Given the description of an element on the screen output the (x, y) to click on. 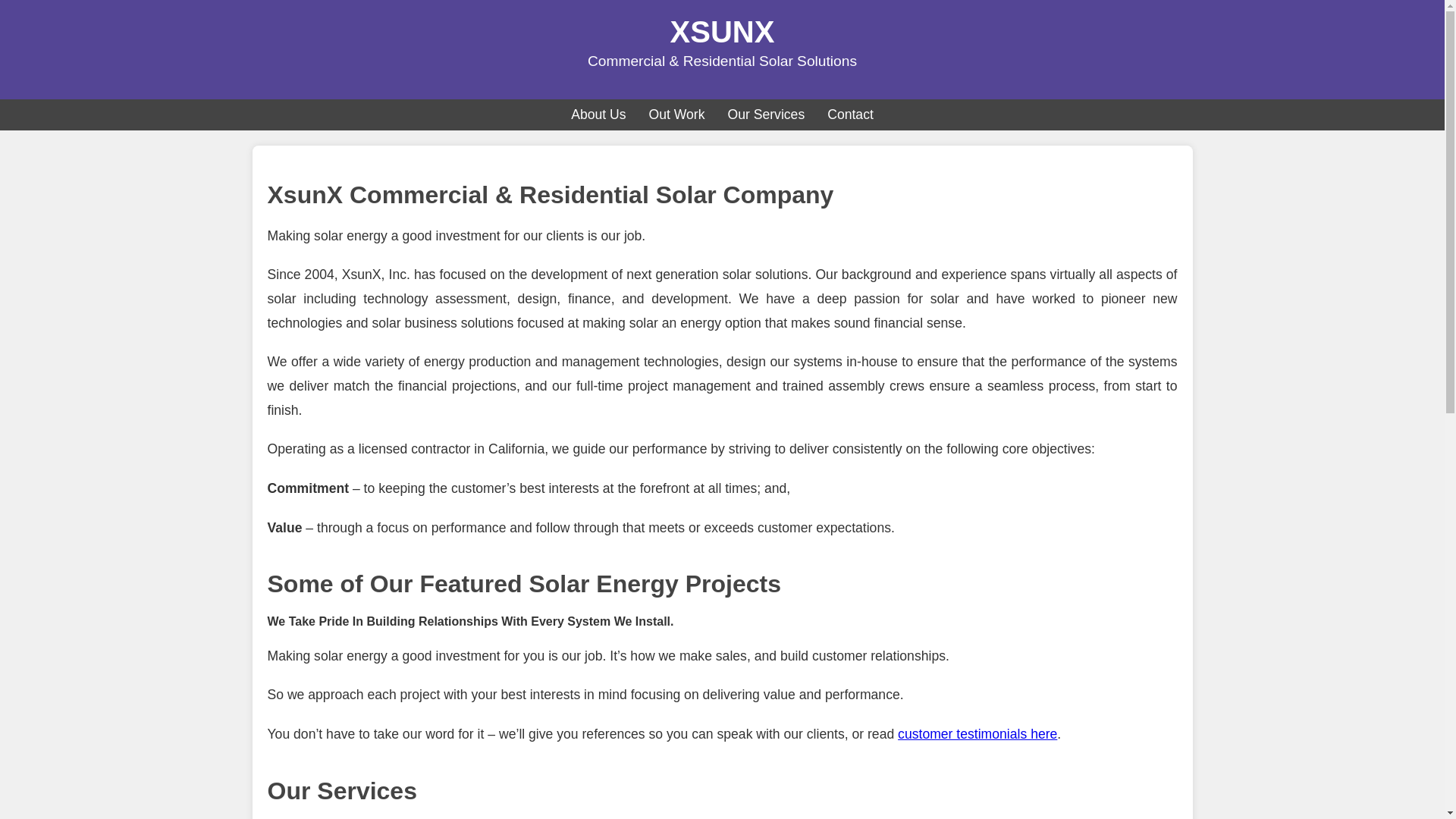
Our Services (766, 114)
About Us (598, 114)
Contact (850, 114)
customer testimonials here (977, 734)
Out Work (676, 114)
